Given the description of an element on the screen output the (x, y) to click on. 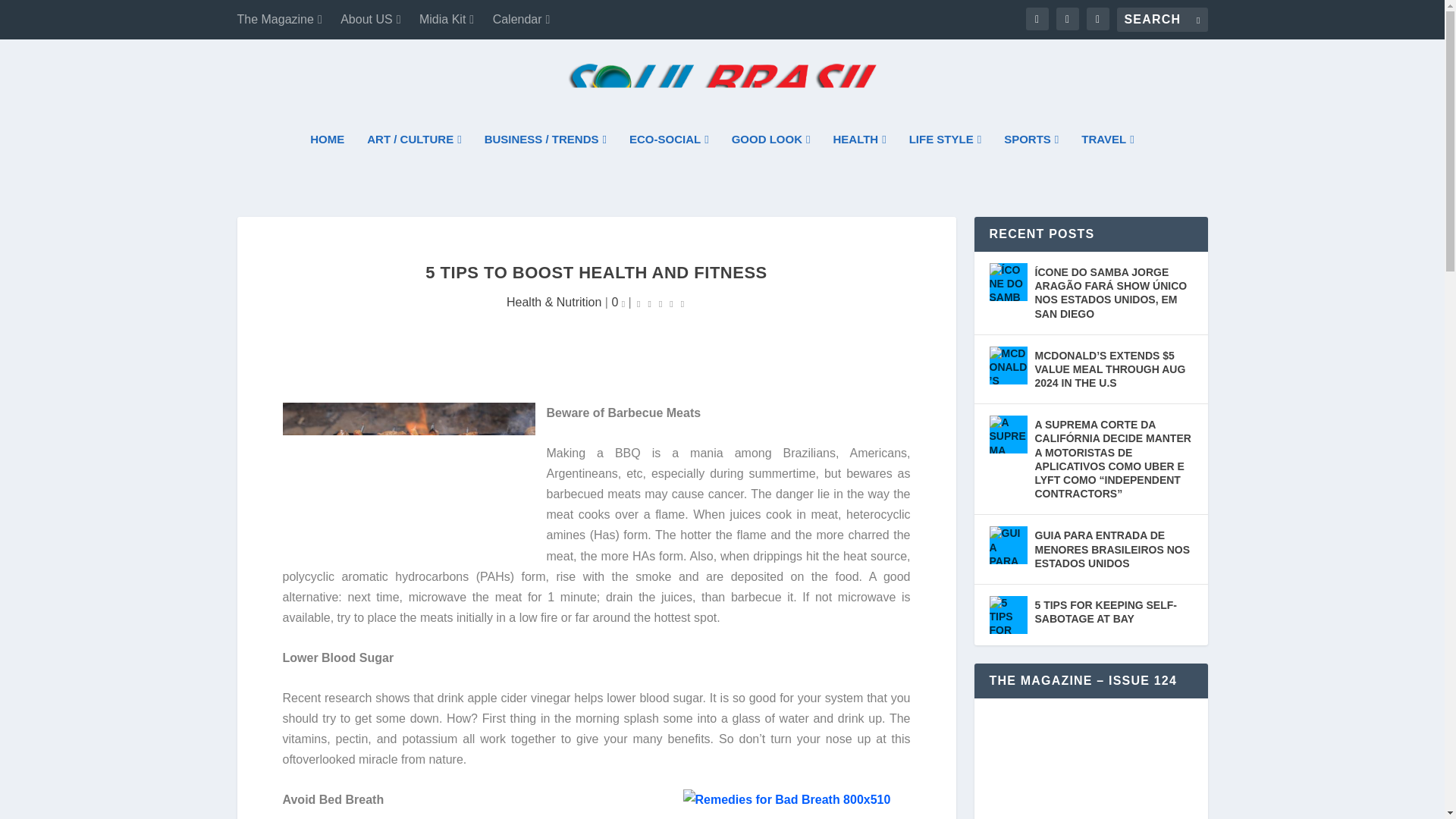
The Magazine (278, 19)
5 Tips to Boost Health and Fitness 1 (408, 476)
Search for: (1161, 19)
Midia Kit (446, 19)
About US (370, 19)
Calendar (521, 19)
Rating: 0.00 (659, 302)
5 Tips to Boost Health and Fitness 2 (796, 804)
ECO-SOCIAL (668, 159)
